Given the description of an element on the screen output the (x, y) to click on. 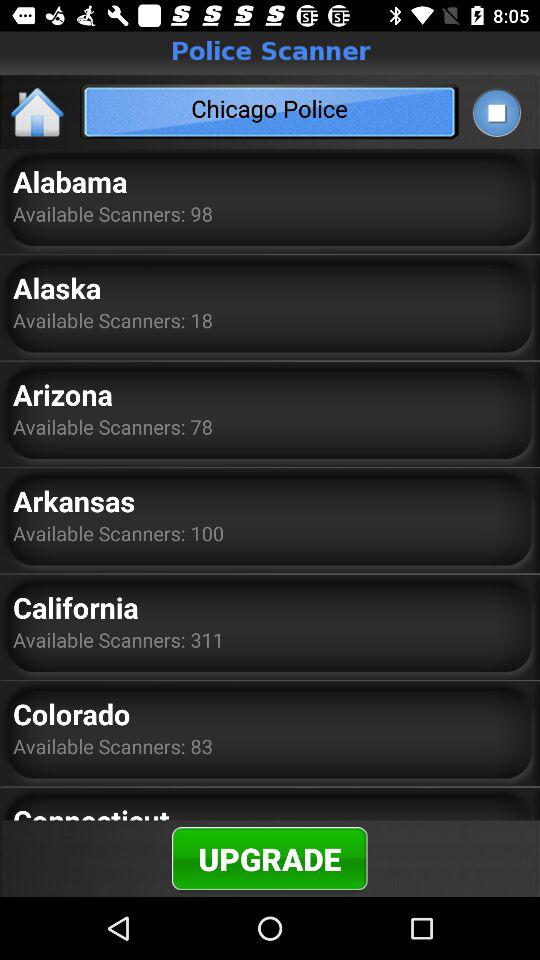
turn off the icon above the alabama app (38, 111)
